Given the description of an element on the screen output the (x, y) to click on. 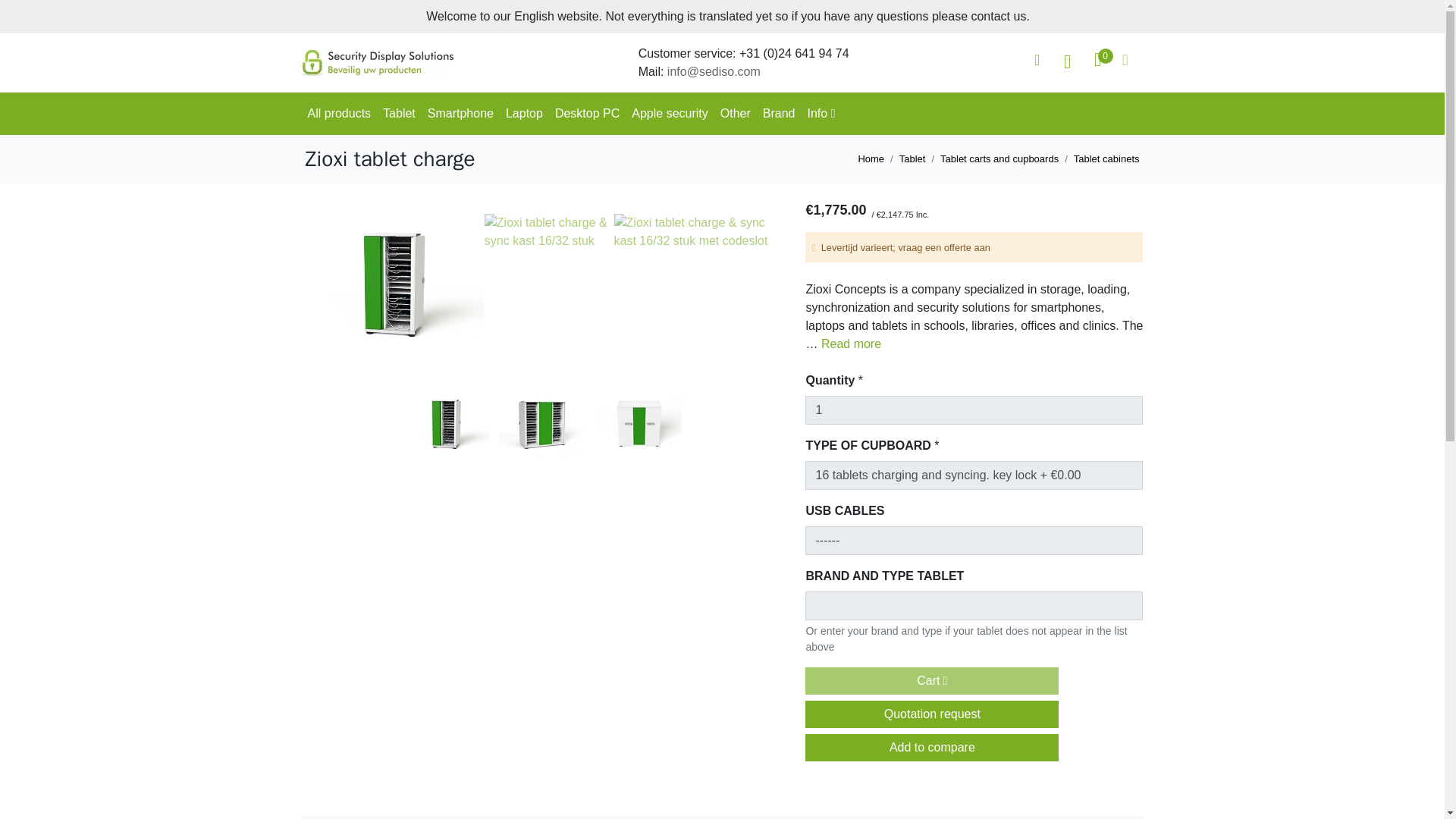
0 (1098, 60)
1 (973, 410)
Tablet (399, 113)
All products (339, 113)
